Given the description of an element on the screen output the (x, y) to click on. 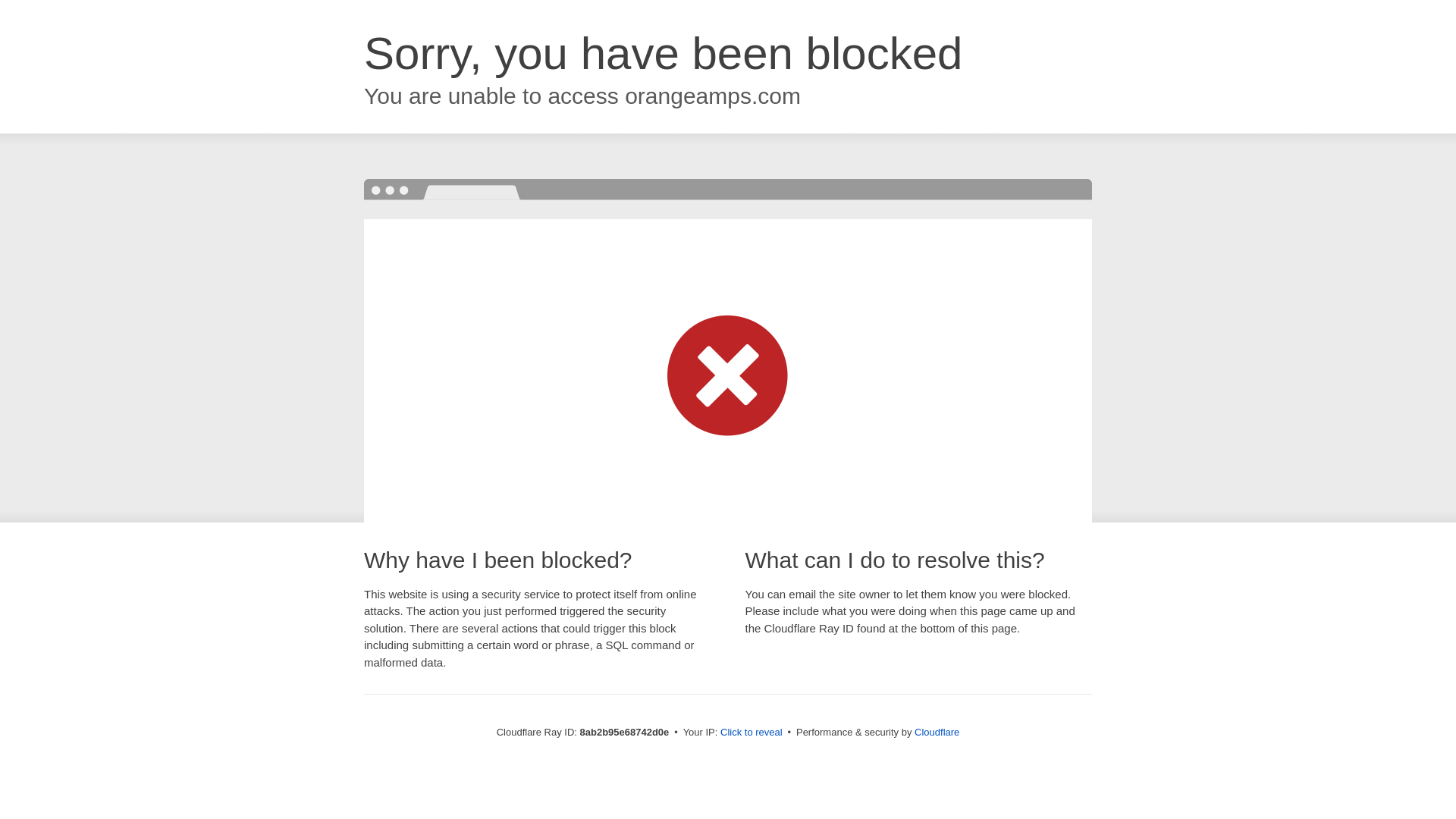
Click to reveal (751, 732)
Cloudflare (936, 731)
